Given the description of an element on the screen output the (x, y) to click on. 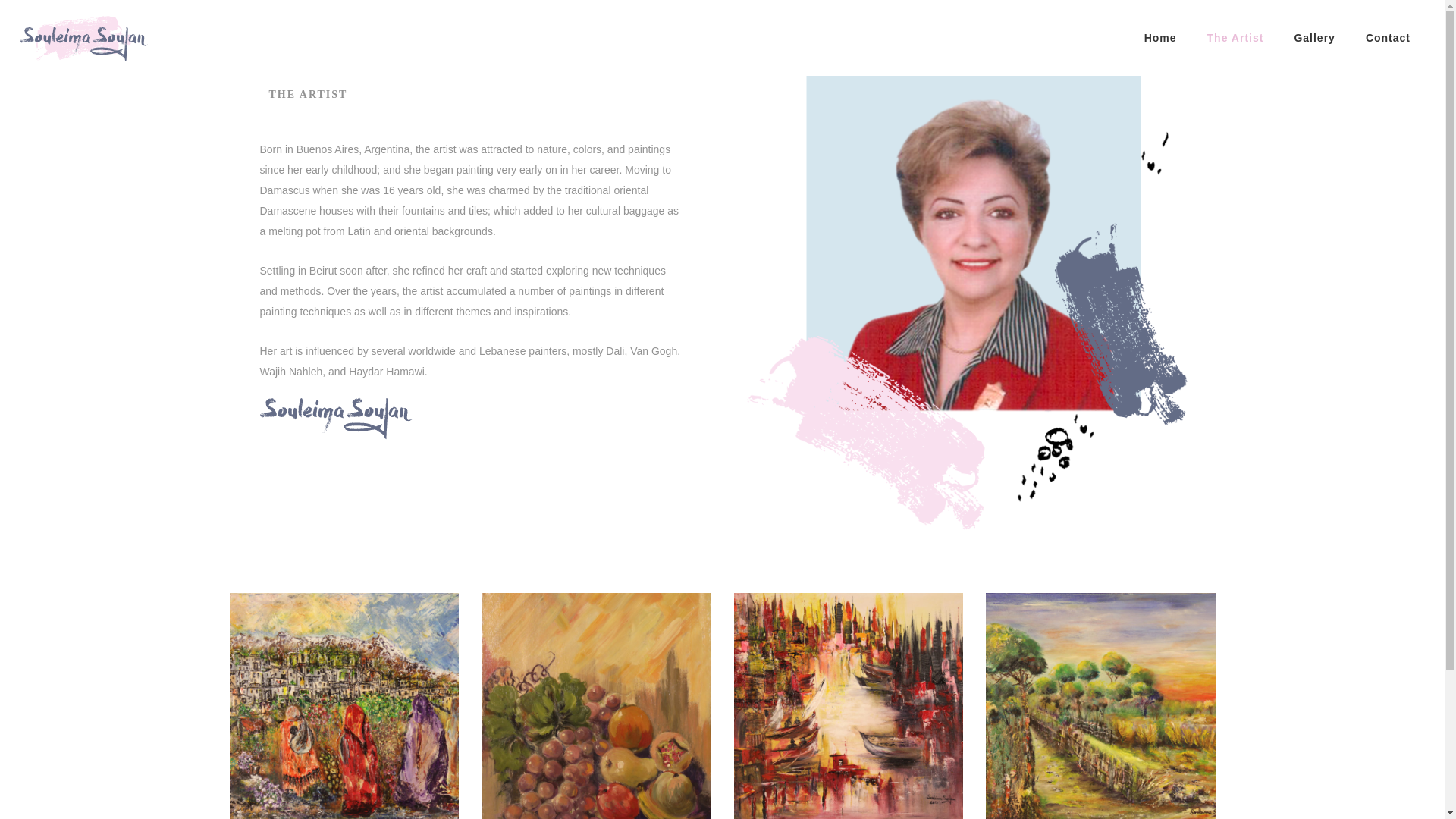
The Artist (1235, 38)
THE ARTIST (307, 94)
Gallery (1313, 38)
Contact (1388, 38)
